Given the description of an element on the screen output the (x, y) to click on. 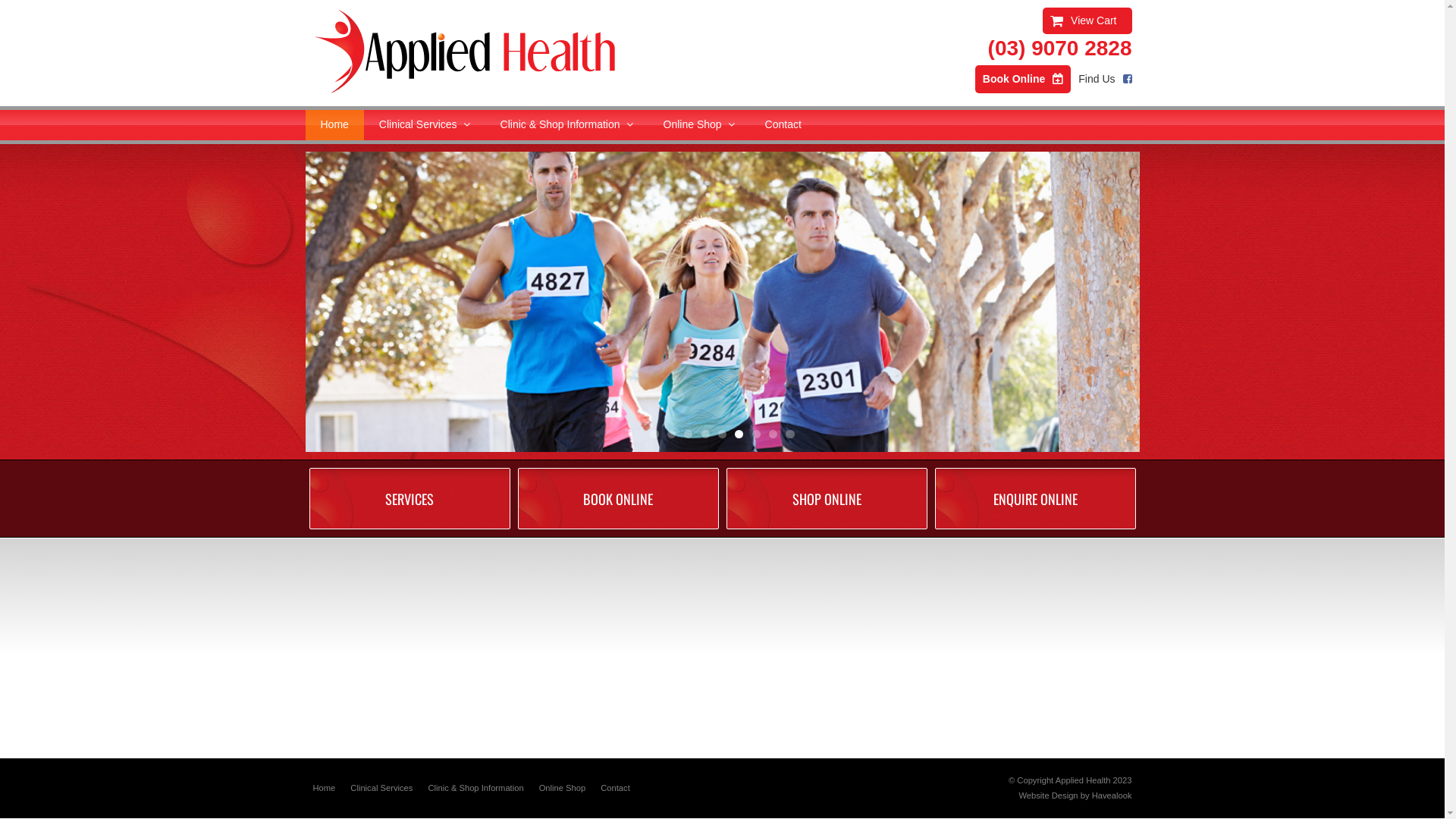
BOOK ONLINE Element type: text (617, 498)
(03) 9070 2828 Element type: text (1047, 48)
Havealook Element type: text (1112, 795)
Contact Element type: text (782, 124)
Clinical Services Element type: text (381, 788)
ENQUIRE ONLINE Element type: text (1034, 498)
SERVICES Element type: text (409, 498)
Contact Element type: text (615, 788)
Book Online Element type: text (1022, 79)
SHOP ONLINE Element type: text (826, 498)
Online Shop Element type: text (562, 788)
Home Element type: text (333, 124)
Home Element type: text (323, 788)
Online Shop Element type: text (698, 124)
Clinic & Shop Information Element type: text (475, 788)
Clinic & Shop Information Element type: text (566, 124)
Clinical Services Element type: text (424, 124)
Find Us Element type: text (1104, 78)
